Given the description of an element on the screen output the (x, y) to click on. 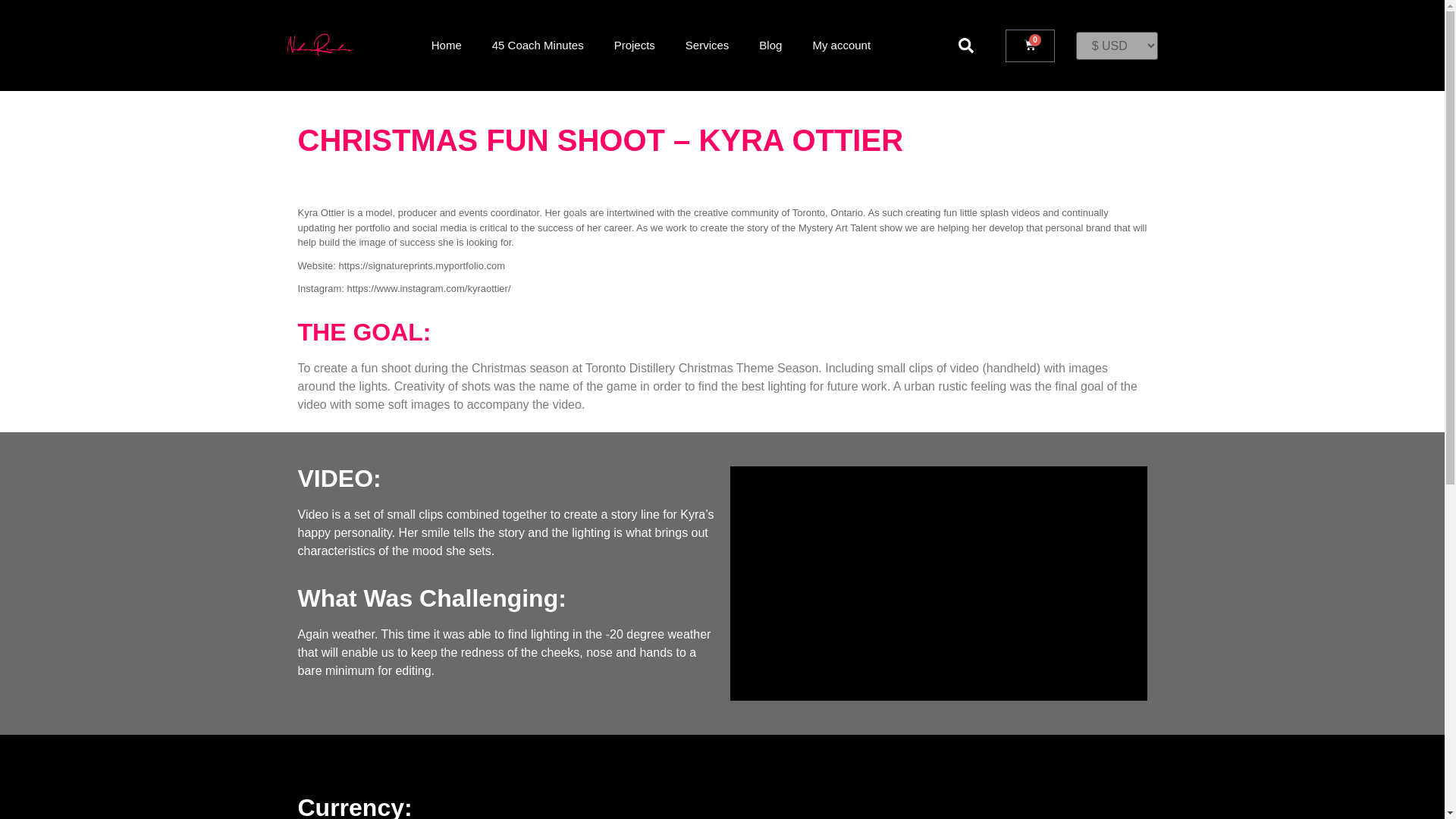
Projects (633, 45)
Services (706, 45)
45 Coach Minutes (537, 45)
vimeo Video Player (938, 583)
My account (840, 45)
